Given the description of an element on the screen output the (x, y) to click on. 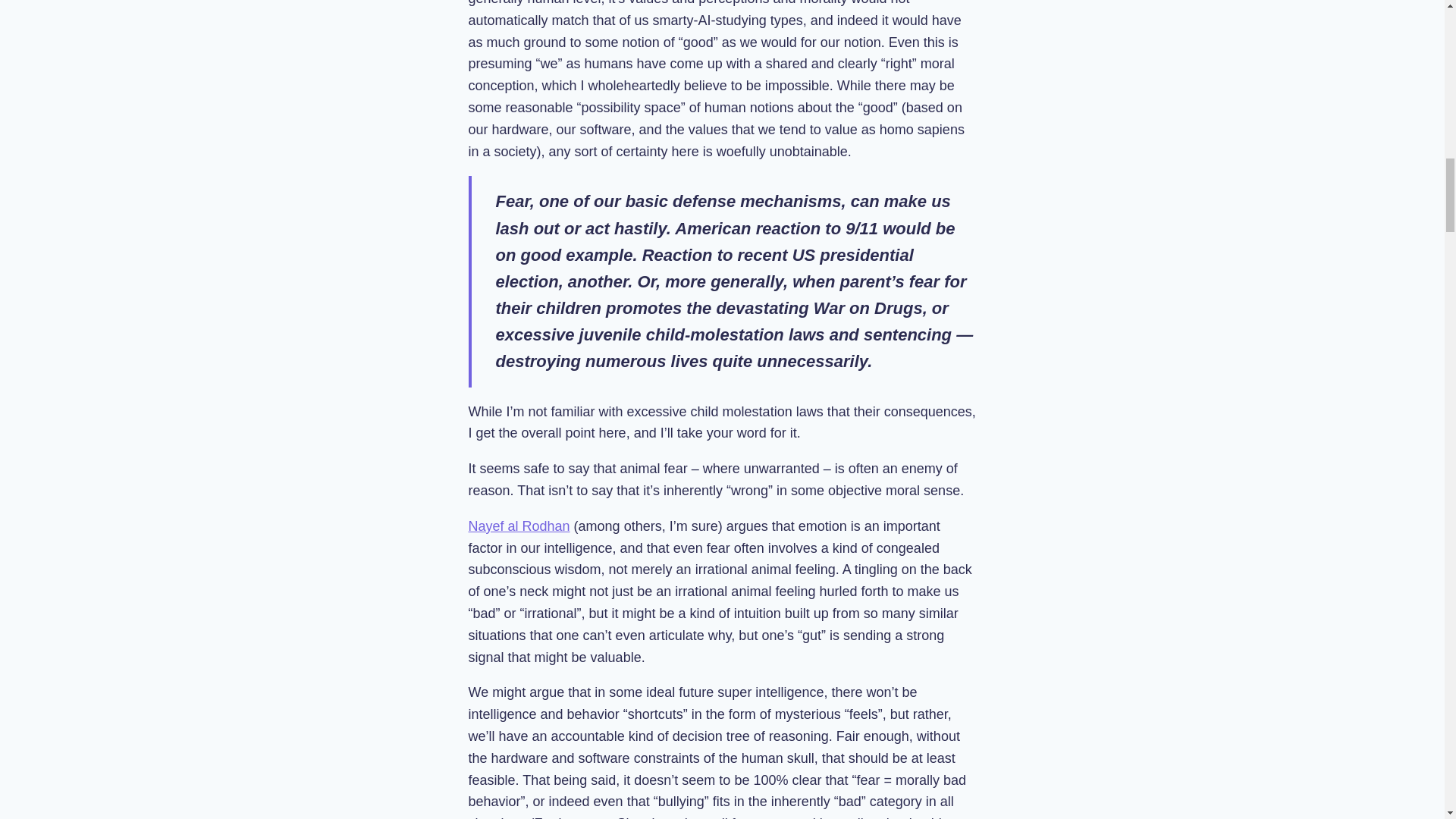
Nayef al Rodhan (519, 525)
